Given the description of an element on the screen output the (x, y) to click on. 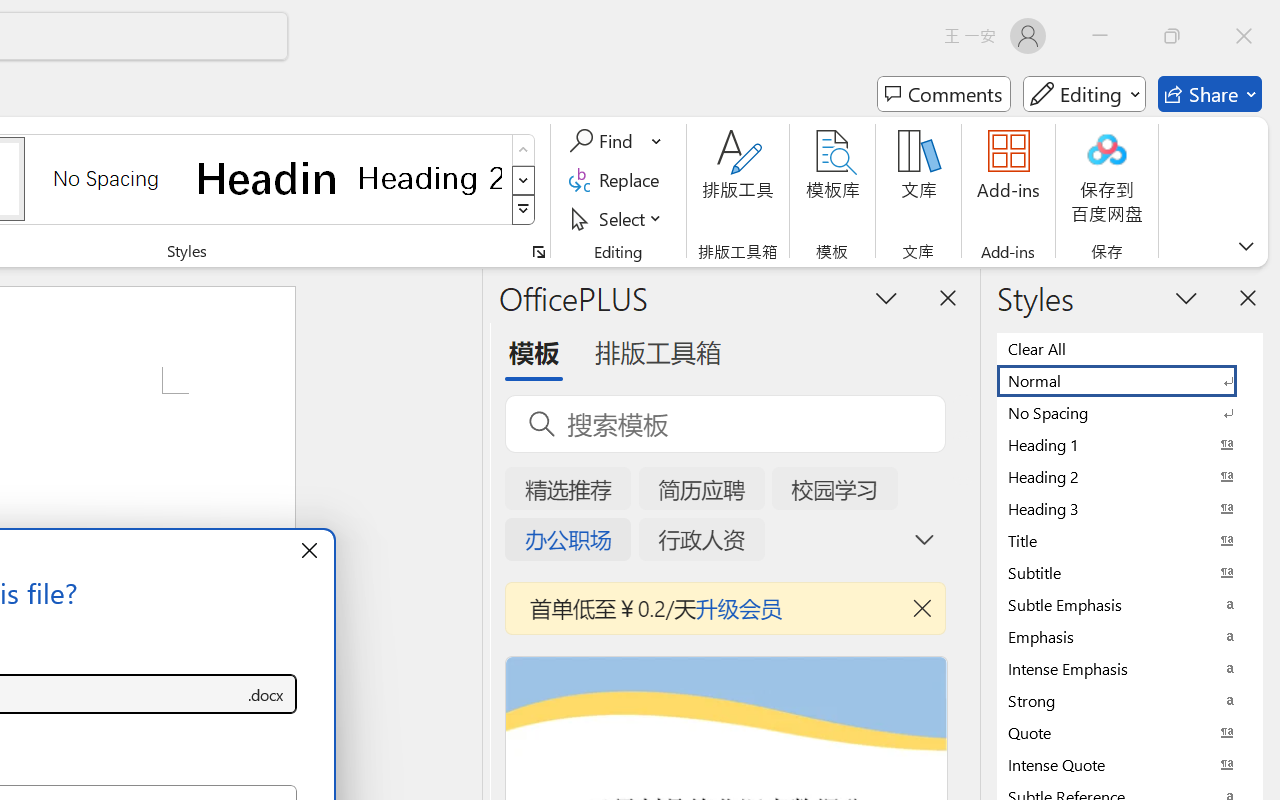
Title (1130, 540)
Minimize (1099, 36)
Select (618, 218)
Subtle Emphasis (1130, 604)
Heading 3 (1130, 508)
Replace... (617, 179)
Close (1244, 36)
Row Down (523, 180)
Restore Down (1172, 36)
No Spacing (1130, 412)
